Given the description of an element on the screen output the (x, y) to click on. 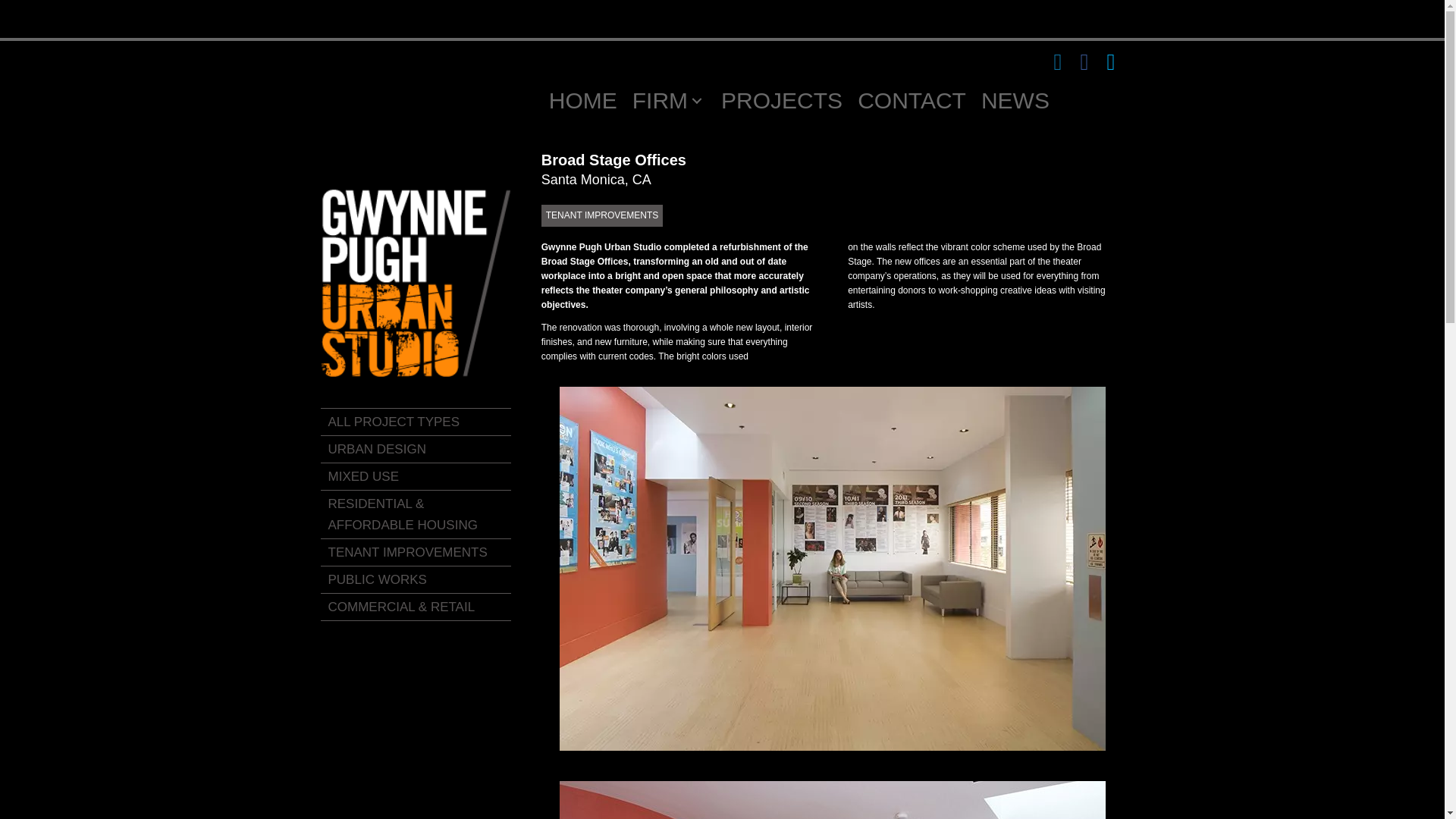
02A with new posters web (832, 800)
ALL PROJECT TYPES (415, 421)
FIRM (668, 100)
PROJECTS (781, 100)
PUBLIC WORKS (415, 579)
gp-logo-01 (415, 283)
NEWS (1015, 100)
CONTACT (912, 100)
HOME (582, 100)
URBAN DESIGN (415, 449)
MIXED USE (415, 476)
TENANT IMPROVEMENTS (415, 552)
